Given the description of an element on the screen output the (x, y) to click on. 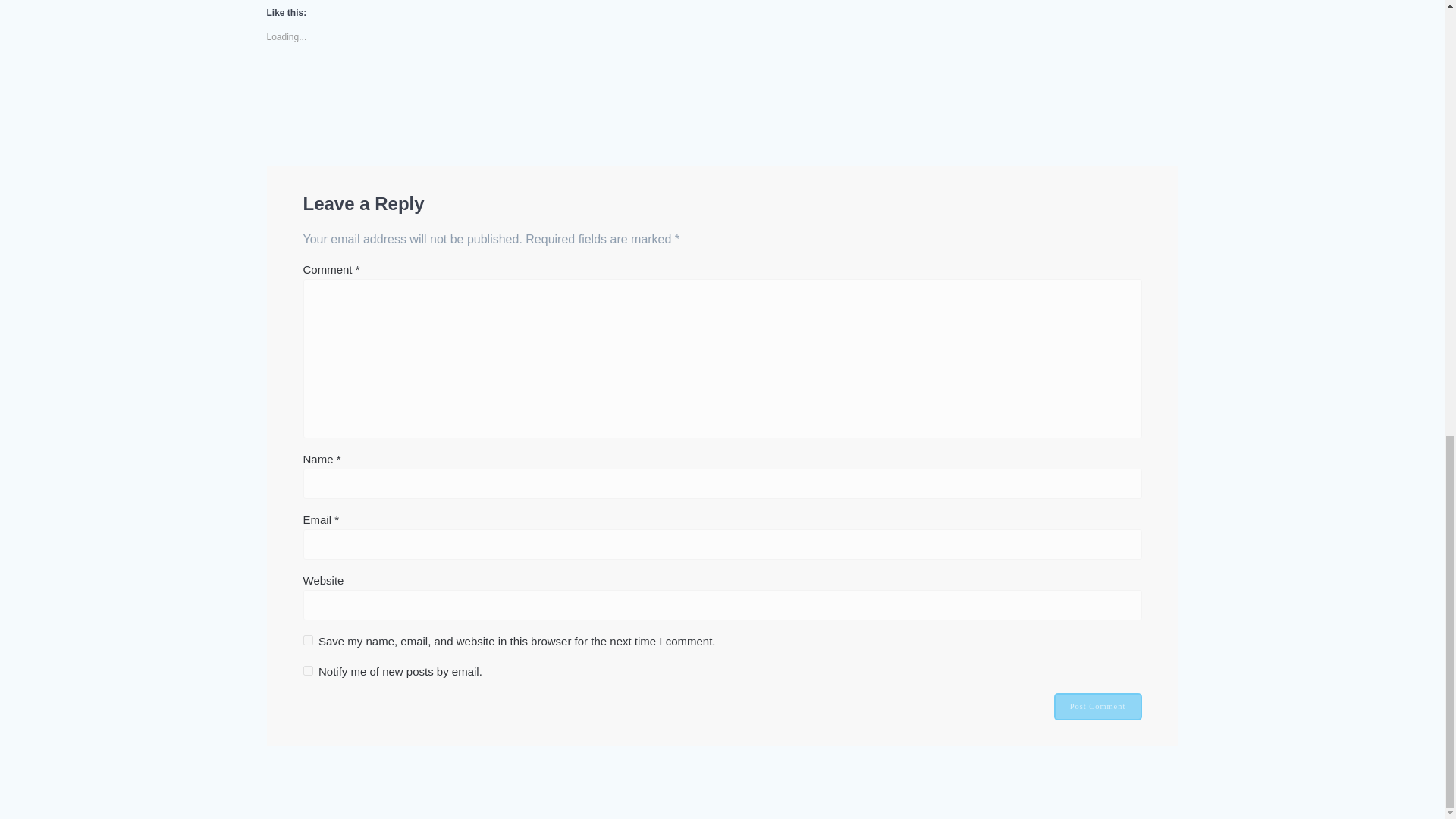
Post Comment (1097, 706)
Post Comment (1097, 706)
yes (307, 640)
subscribe (307, 670)
